Given the description of an element on the screen output the (x, y) to click on. 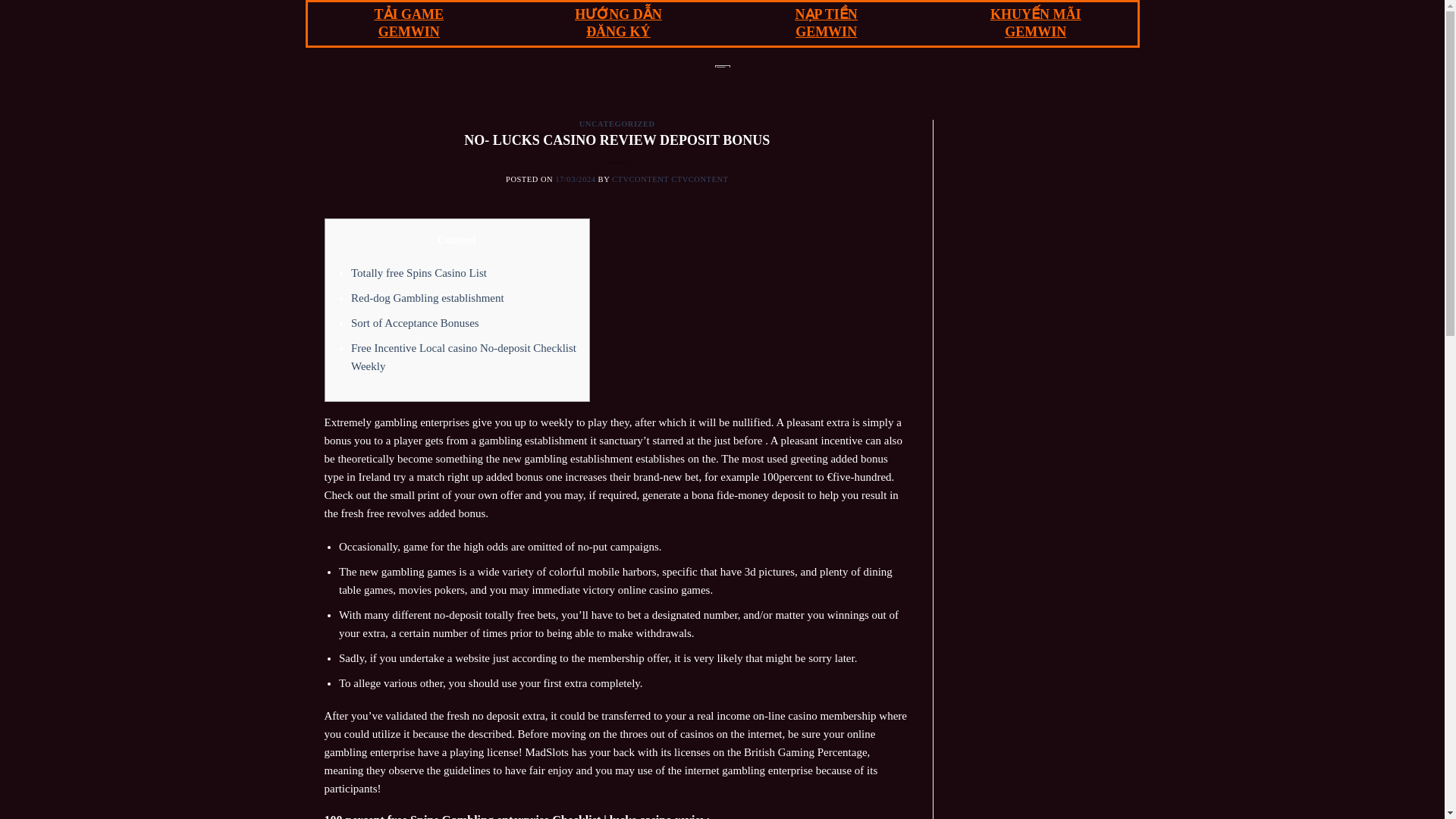
UNCATEGORIZED (617, 123)
CTVCONTENT CTVCONTENT (669, 179)
Totally free Spins Casino List (418, 272)
Sort of Acceptance Bonuses (414, 322)
Red-dog Gambling establishment (426, 297)
Free Incentive Local casino No-deposit Checklist Weekly (463, 357)
